Given the description of an element on the screen output the (x, y) to click on. 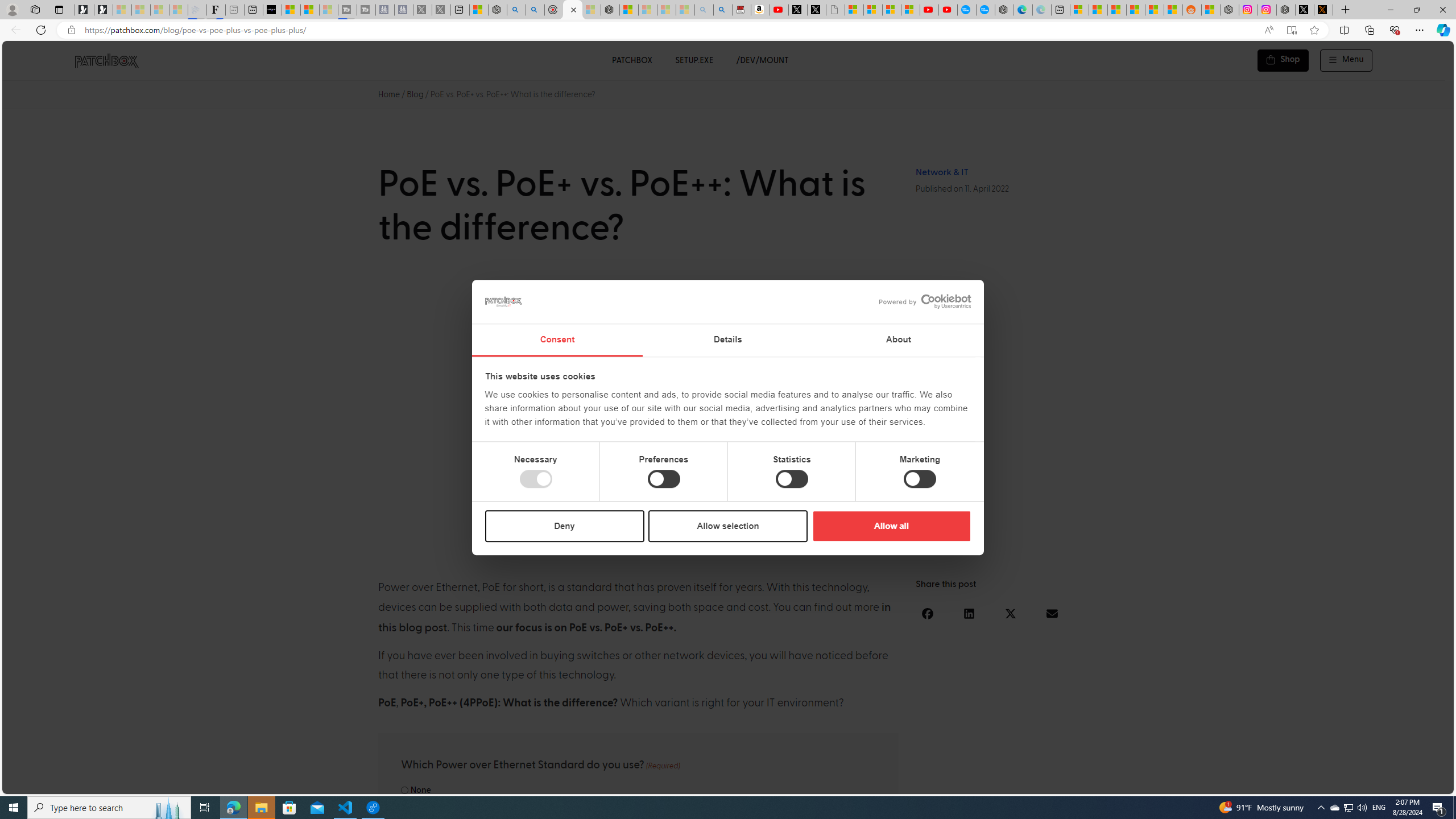
Necessary (535, 479)
logo - opens in a new window (920, 301)
Blog (414, 94)
Preferences (663, 479)
PATCHBOX (631, 60)
Language switcher : French (1243, 782)
